Given the description of an element on the screen output the (x, y) to click on. 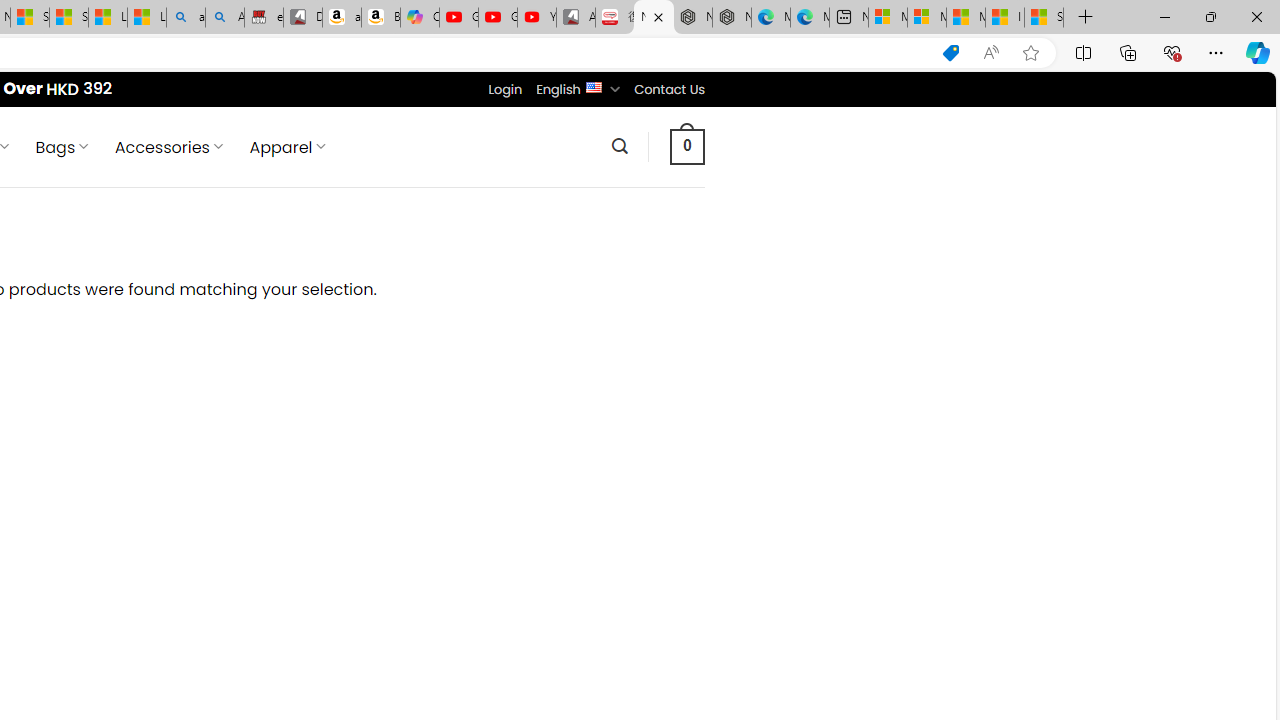
Amazon Echo Dot PNG - Search Images (225, 17)
amazon.in/dp/B0CX59H5W7/?tag=gsmcom05-21 (341, 17)
Nordace - Luggage (653, 17)
YouTube Kids - An App Created for Kids to Explore Content (536, 17)
